Given the description of an element on the screen output the (x, y) to click on. 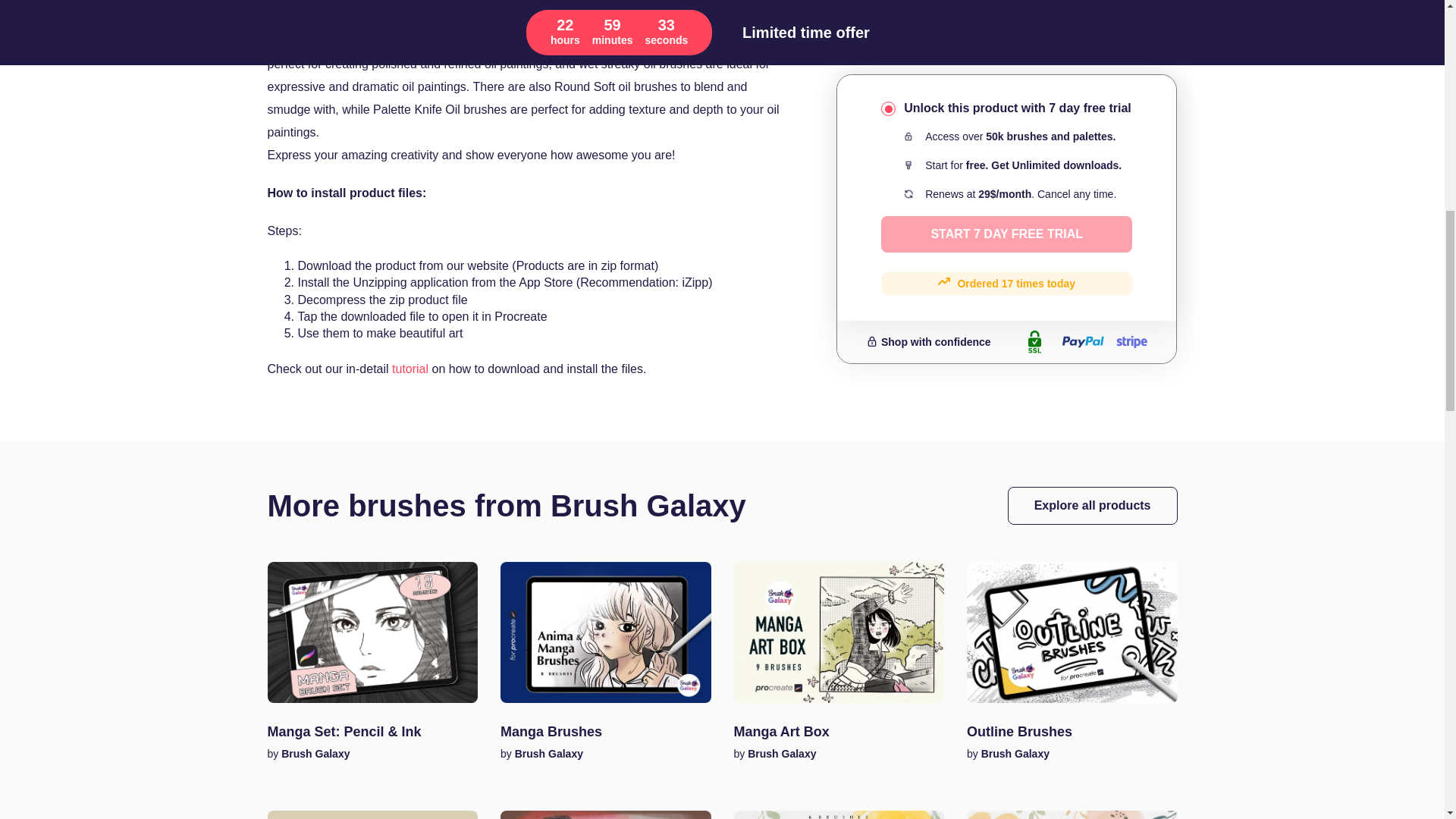
Brush-Galaxy (781, 753)
Brush-Galaxy (548, 753)
Brush-Galaxy (314, 753)
Brush-Galaxy (1014, 753)
